Given the description of an element on the screen output the (x, y) to click on. 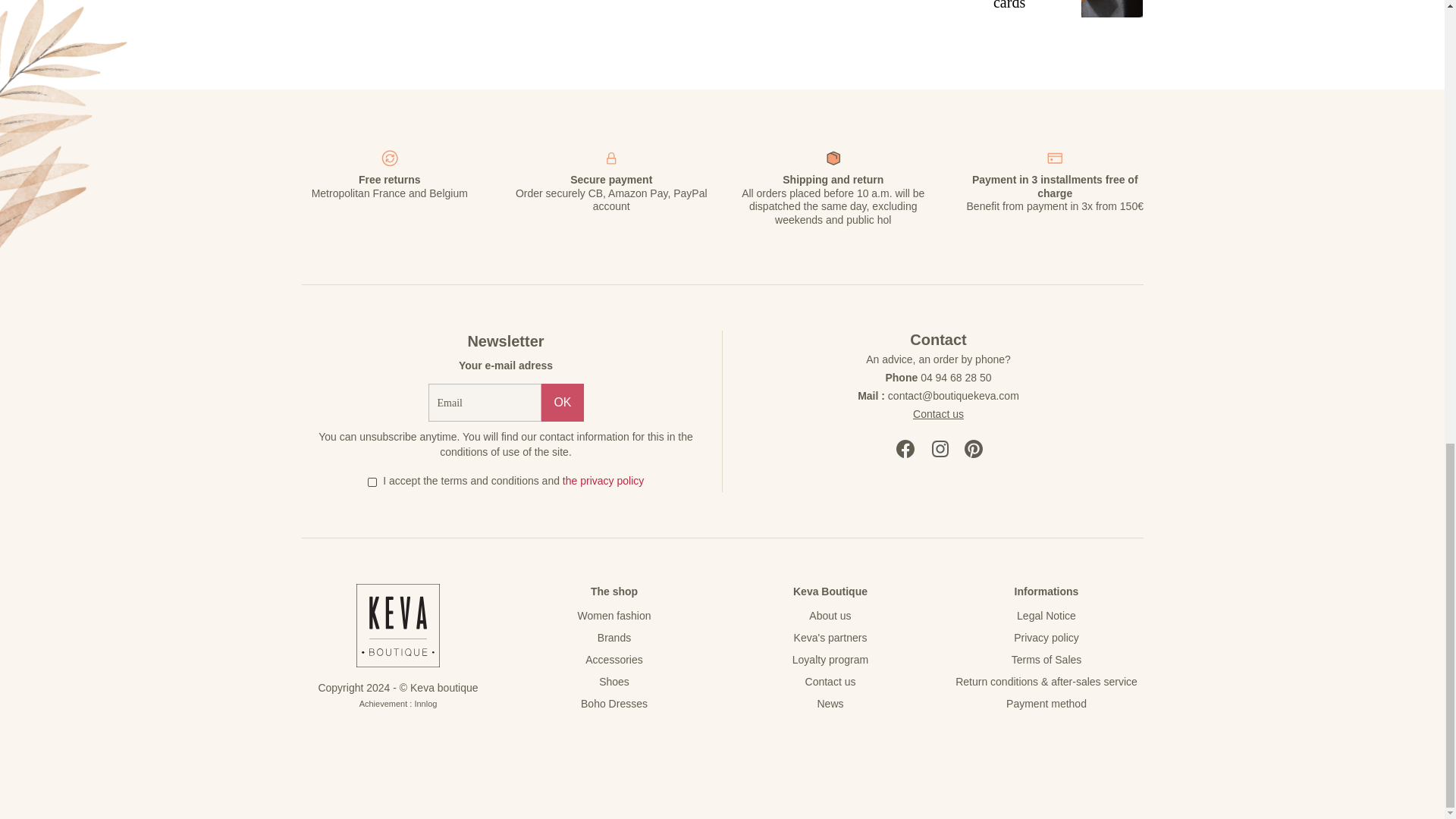
Ok (562, 402)
